Given the description of an element on the screen output the (x, y) to click on. 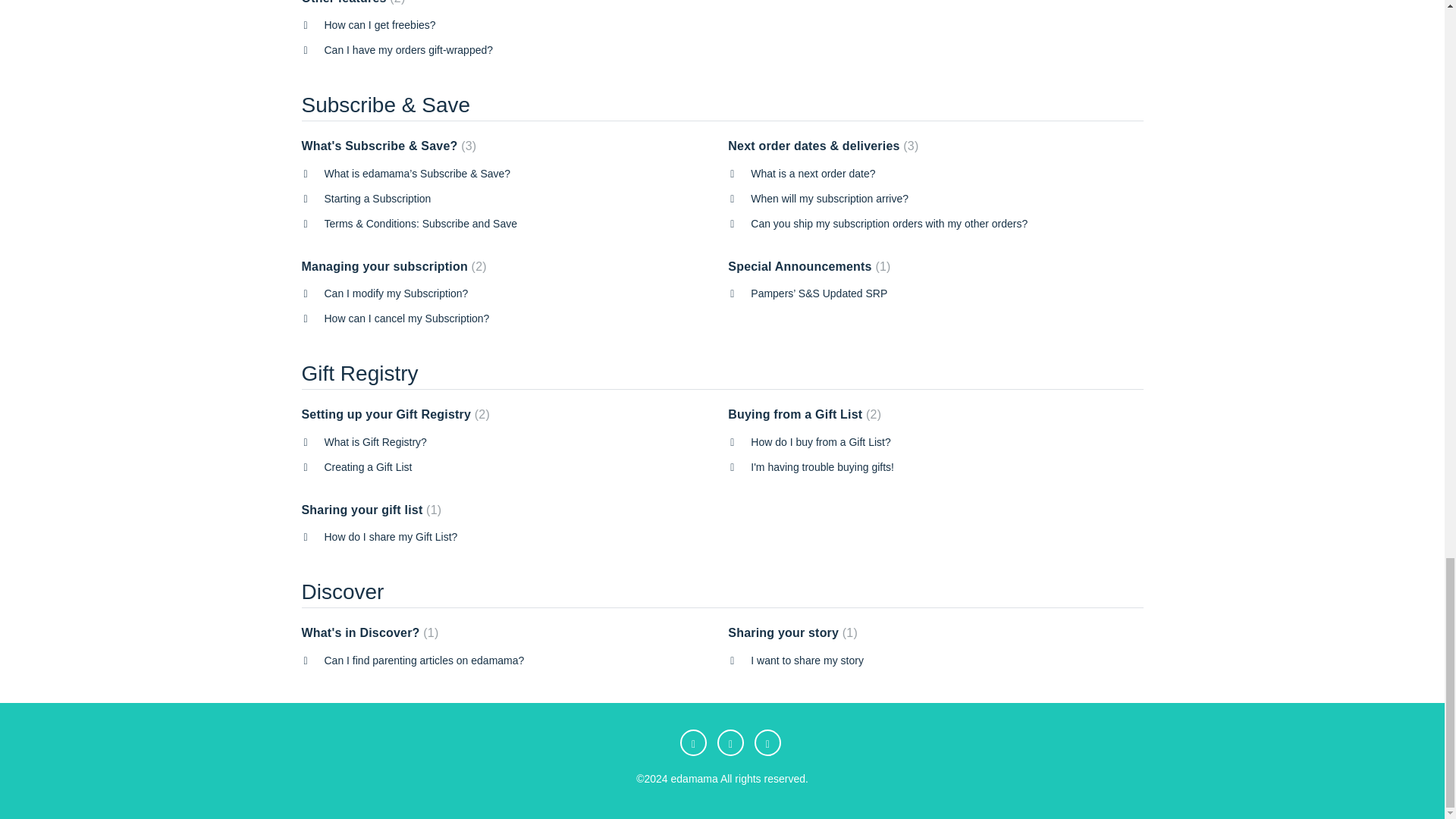
Other features (353, 2)
Managing your subscription (393, 266)
